Given the description of an element on the screen output the (x, y) to click on. 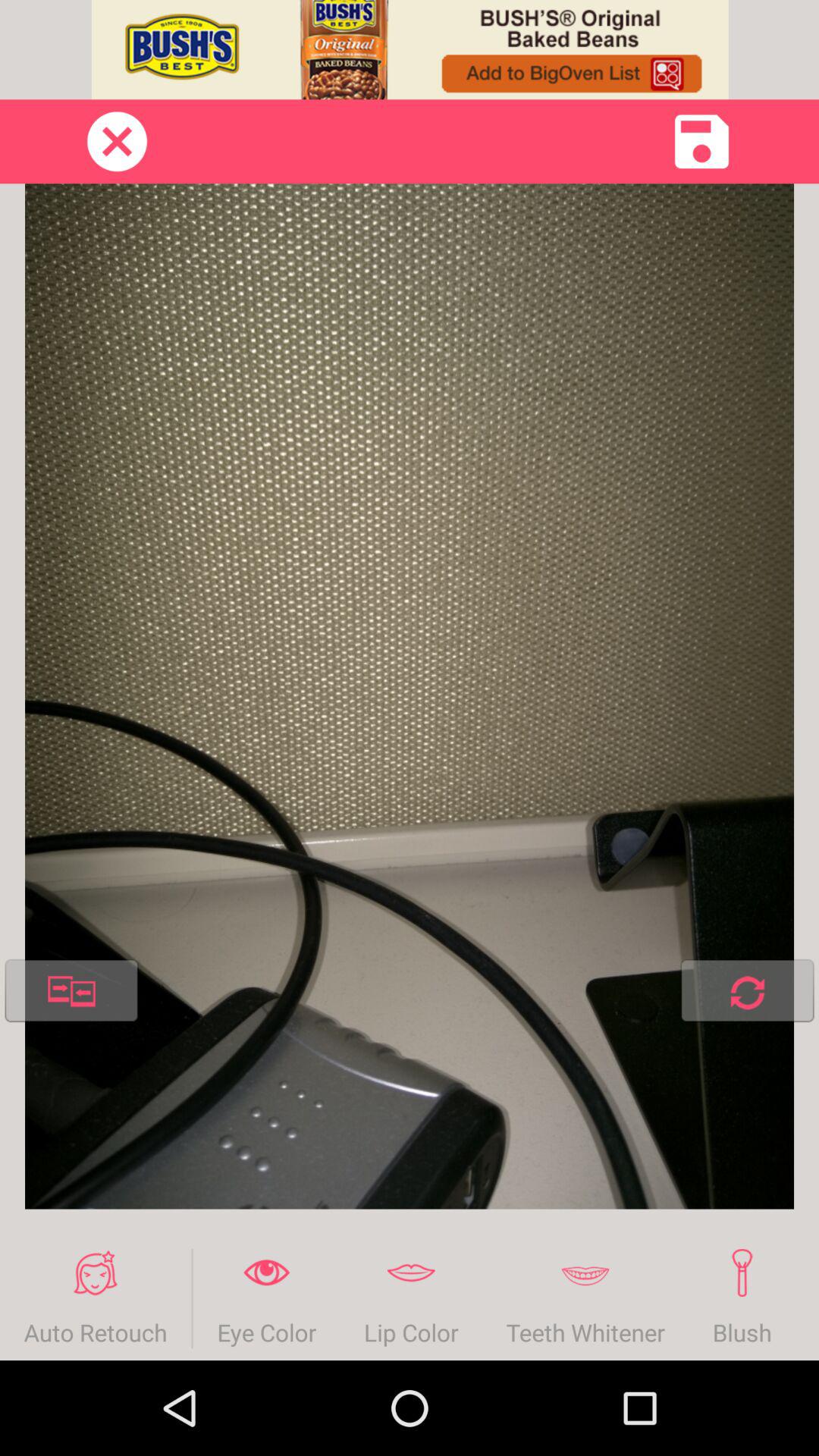
scroll until auto retouch (95, 1298)
